Given the description of an element on the screen output the (x, y) to click on. 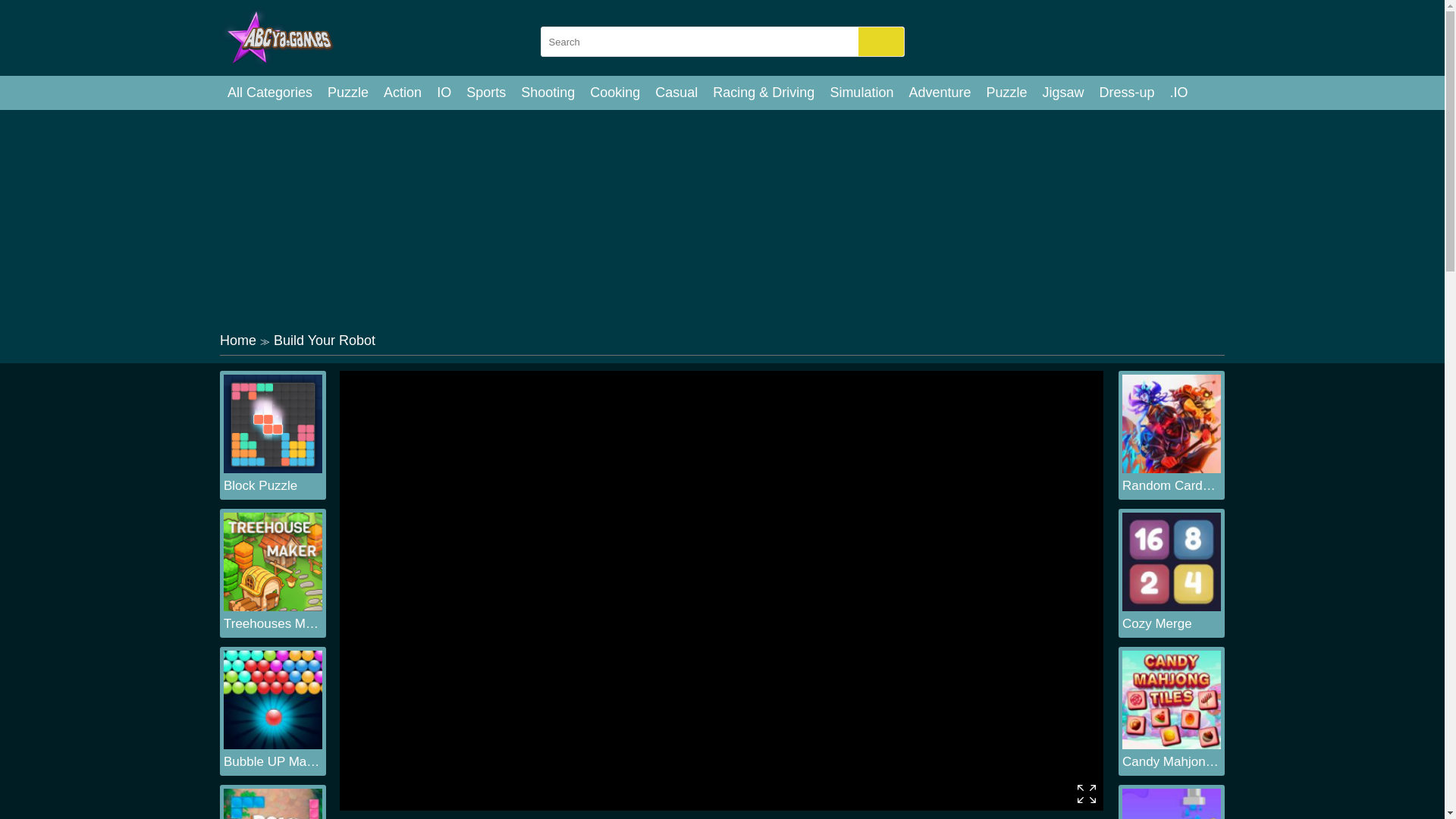
Puzzle (347, 92)
.IO (1178, 92)
All Categories (269, 92)
Casual (675, 92)
Treehouses Maker (272, 623)
Sports (485, 92)
Puzzle (1005, 92)
Action (402, 92)
Block Puzzle (272, 485)
Jigsaw (1063, 92)
